Given the description of an element on the screen output the (x, y) to click on. 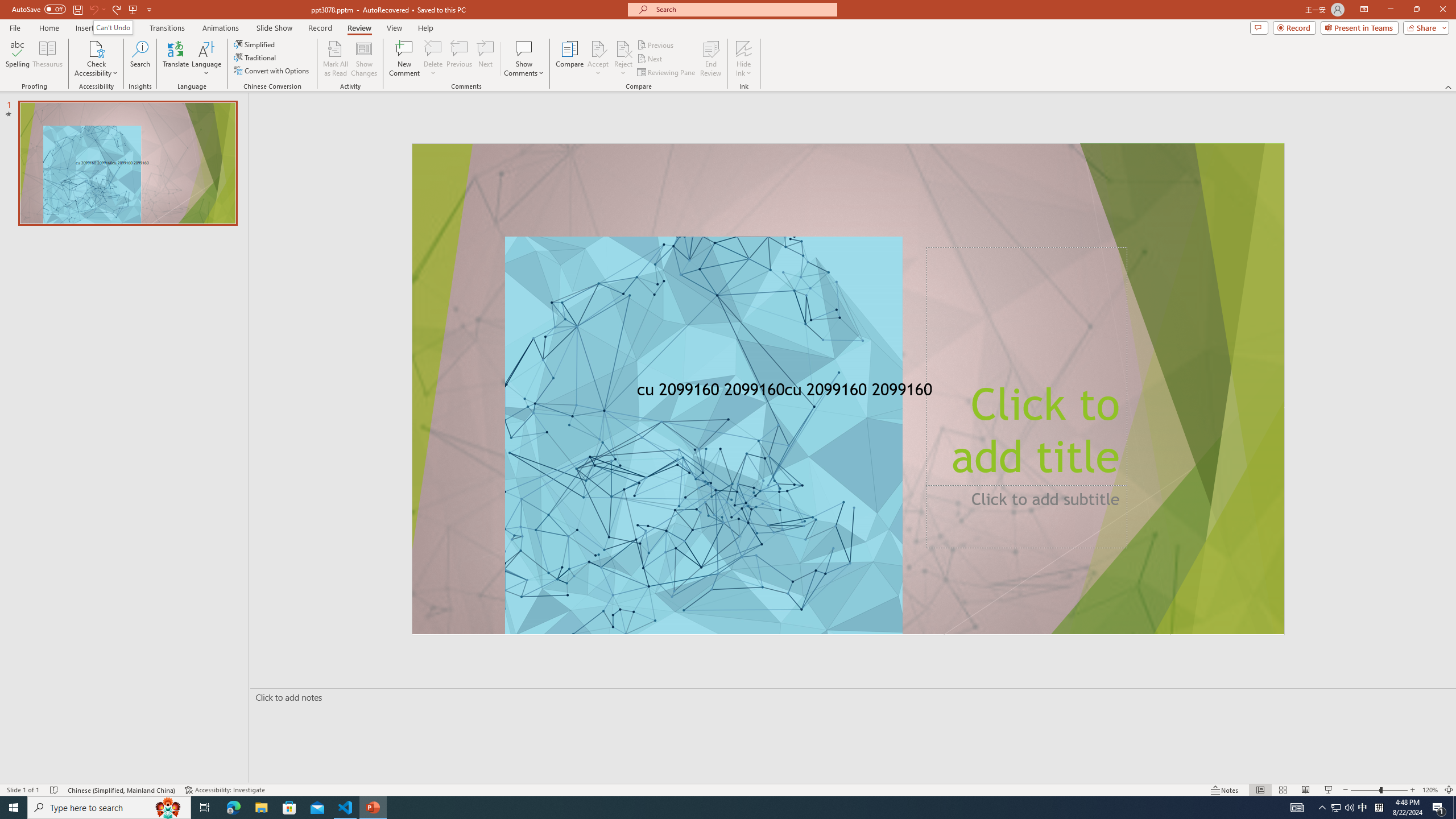
Accept Change (598, 48)
Traditional (255, 56)
Compare (569, 58)
New Comment (403, 58)
Show Changes (363, 58)
Convert with Options... (272, 69)
Reviewing Pane (666, 72)
Language (206, 58)
